Given the description of an element on the screen output the (x, y) to click on. 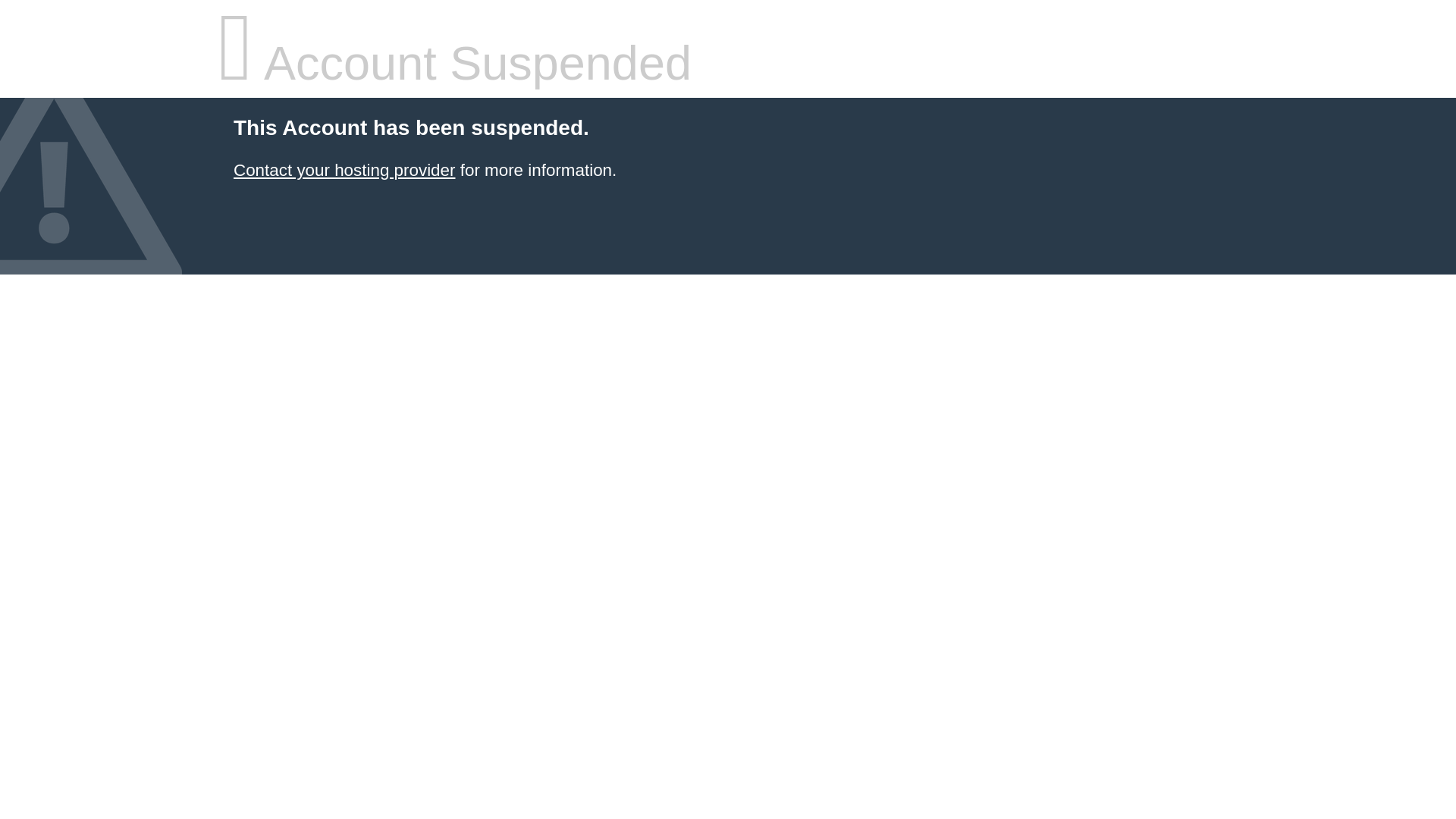
Contact your hosting provider (343, 169)
HostMato (343, 169)
